Given the description of an element on the screen output the (x, y) to click on. 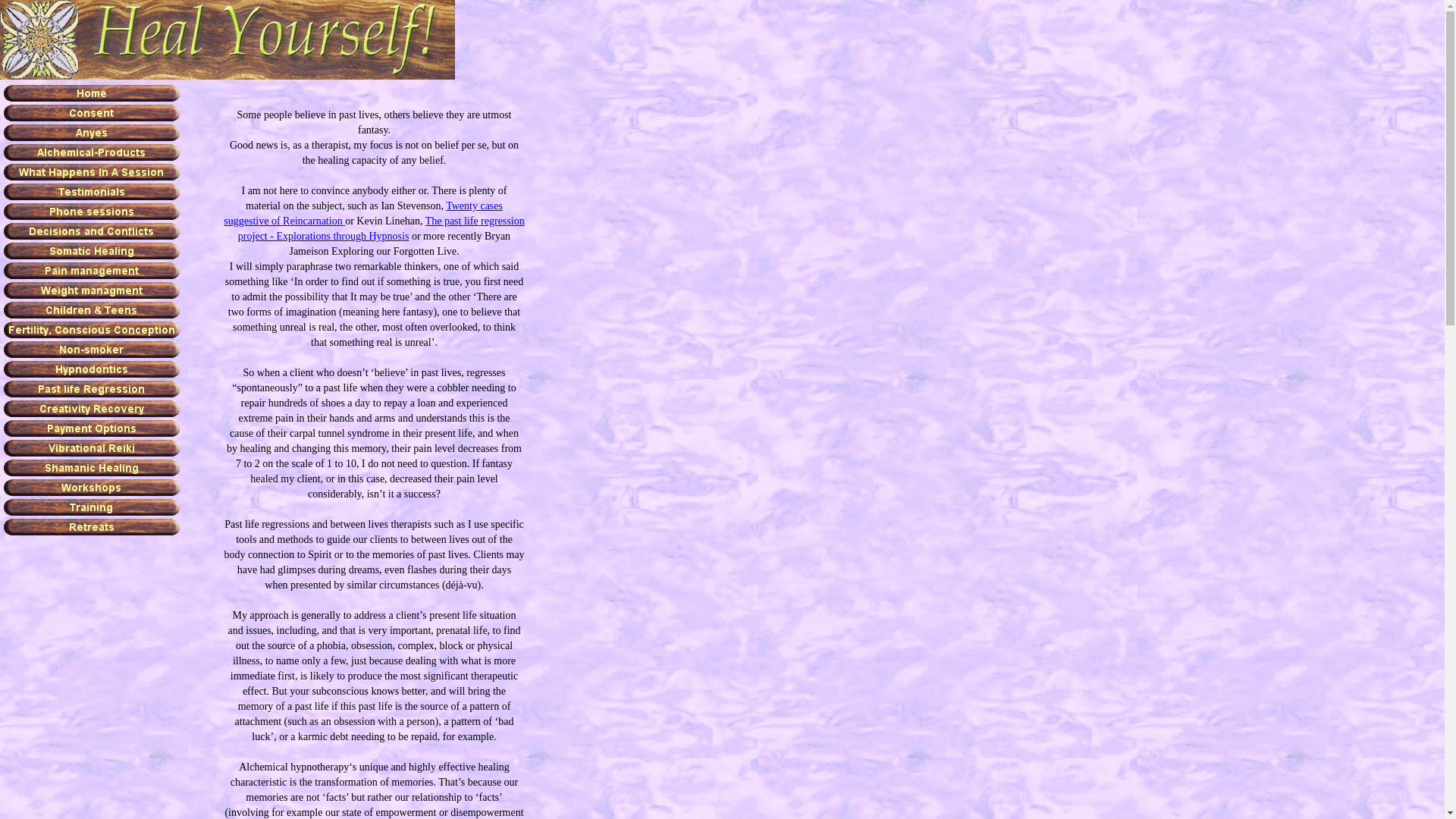
project - Explorations through Hypnosis Element type: text (323, 235)
suggestive of Reincarnation Element type: text (284, 219)
The past life regression Element type: text (474, 219)
Twenty cases Element type: text (473, 204)
